Given the description of an element on the screen output the (x, y) to click on. 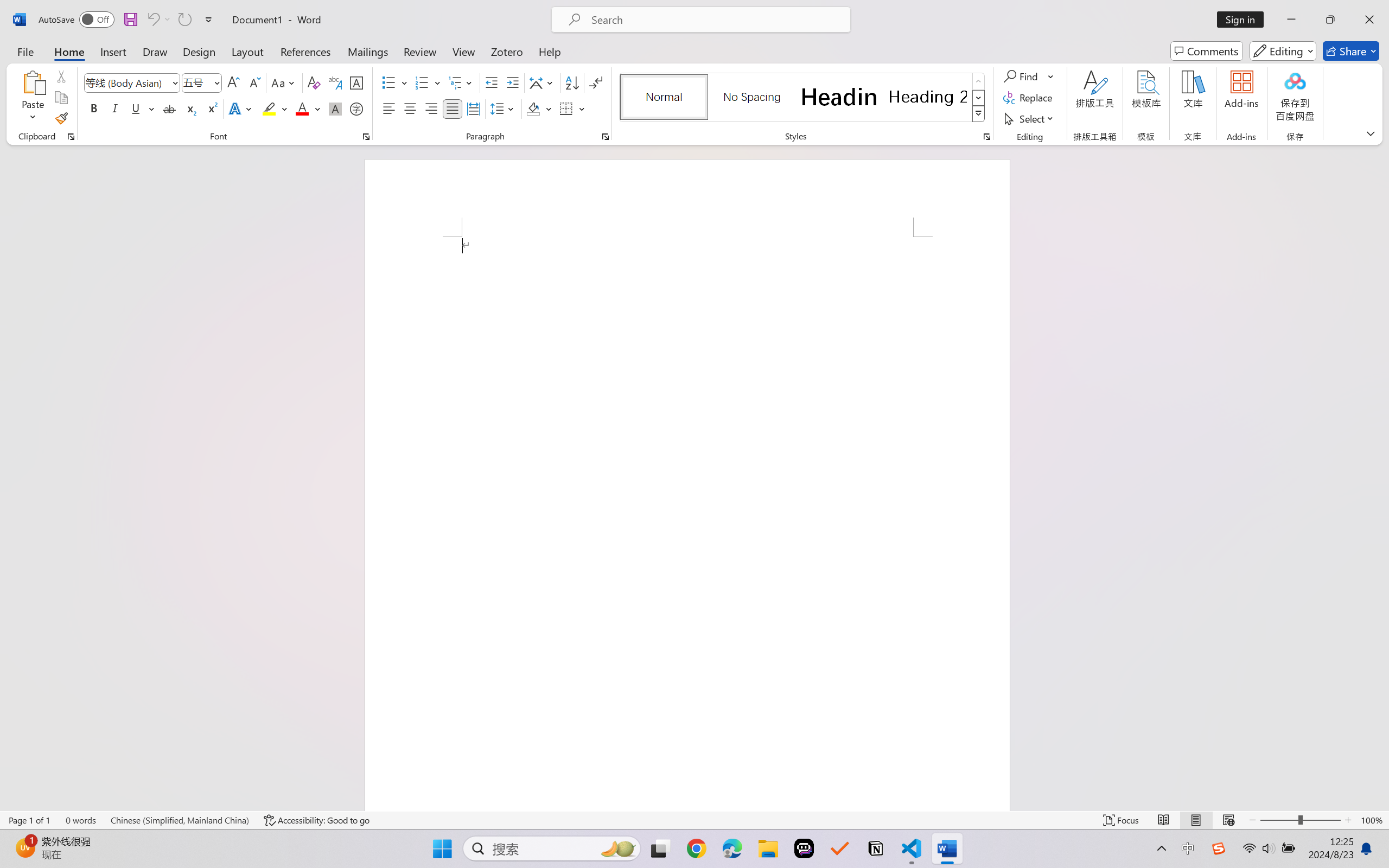
Sign in (1244, 19)
